Given the description of an element on the screen output the (x, y) to click on. 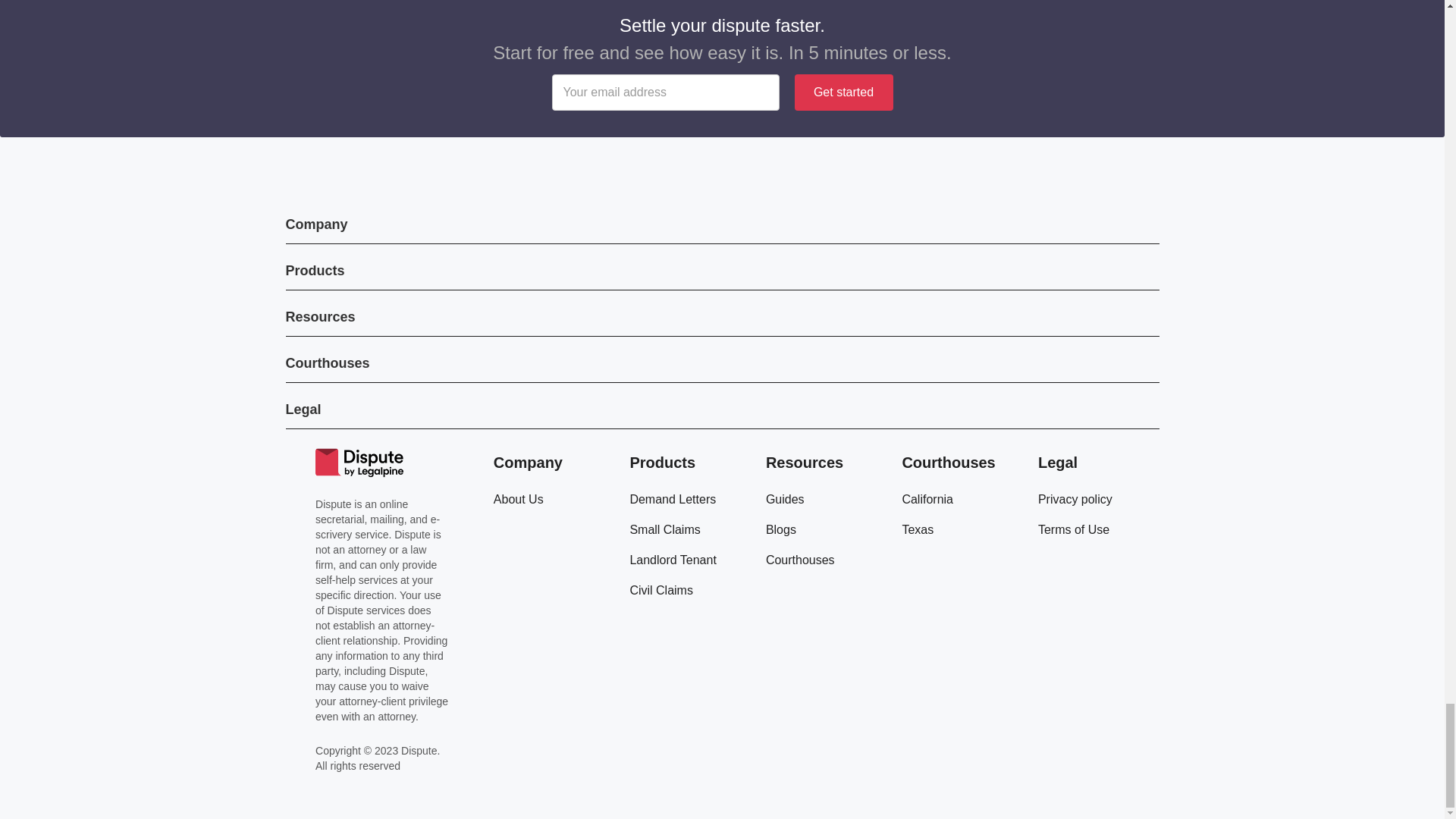
Guides (785, 499)
Demand Letters (672, 499)
Courthouses (799, 559)
Civil Claims (660, 590)
Get started (843, 92)
Small Claims (664, 529)
Blogs (780, 529)
Get started (843, 92)
California (927, 499)
About Us (518, 499)
